Given the description of an element on the screen output the (x, y) to click on. 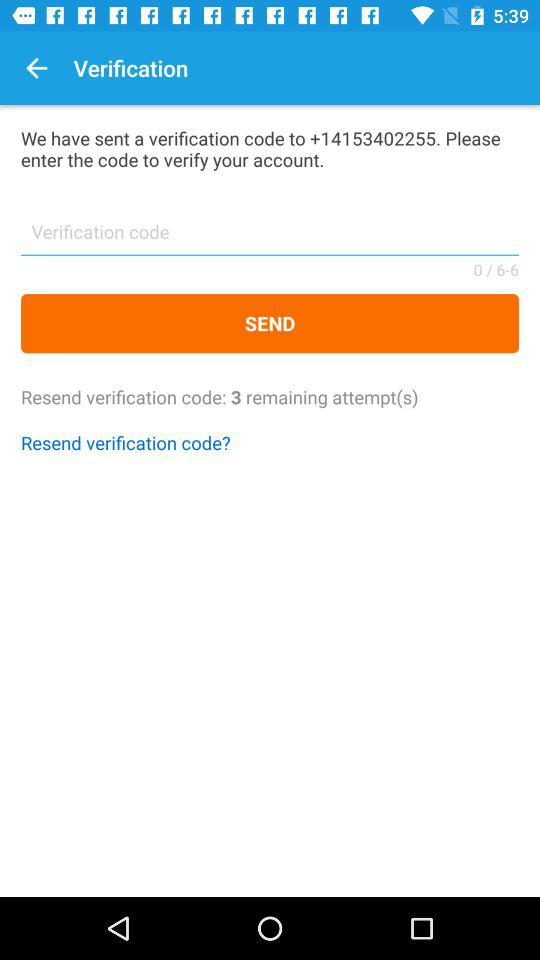
flip to send icon (270, 323)
